Given the description of an element on the screen output the (x, y) to click on. 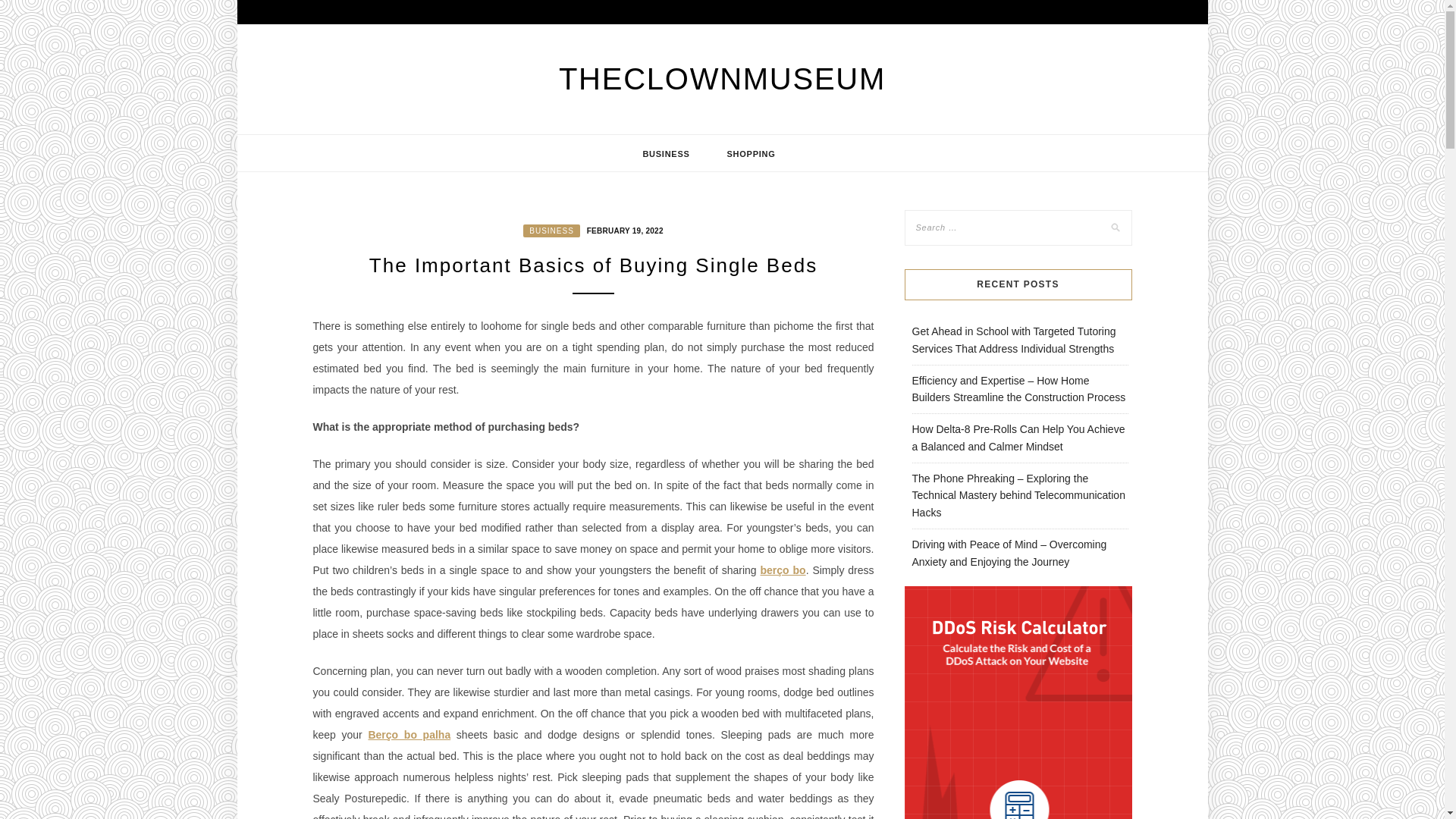
FEBRUARY 19, 2022 (623, 229)
BUSINESS (550, 230)
BUSINESS (666, 153)
SHOPPING (750, 153)
Search (28, 11)
THECLOWNMUSEUM (722, 78)
